Given the description of an element on the screen output the (x, y) to click on. 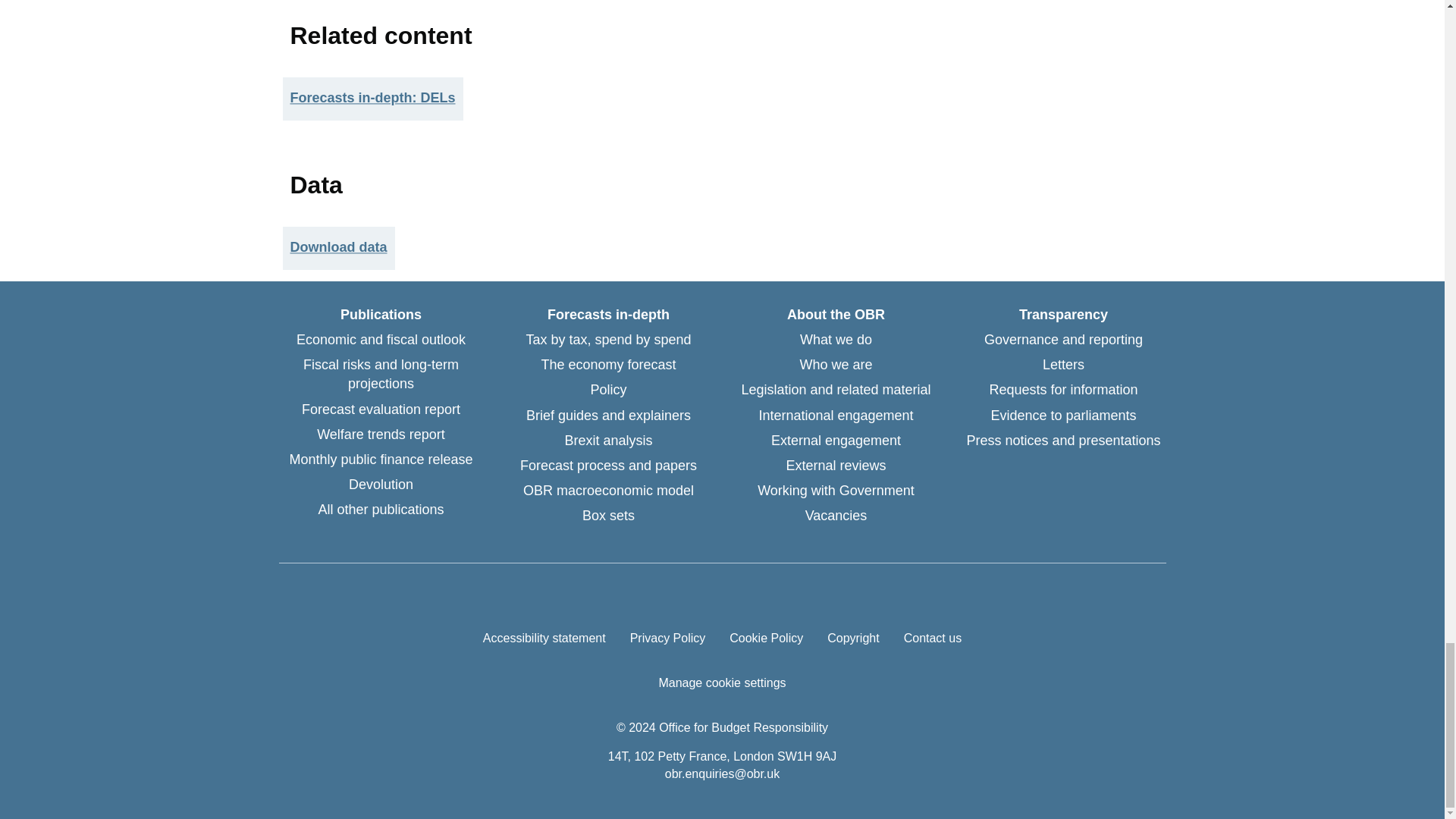
Forecasts in-depth: DELs (371, 98)
Download data (338, 247)
